Given the description of an element on the screen output the (x, y) to click on. 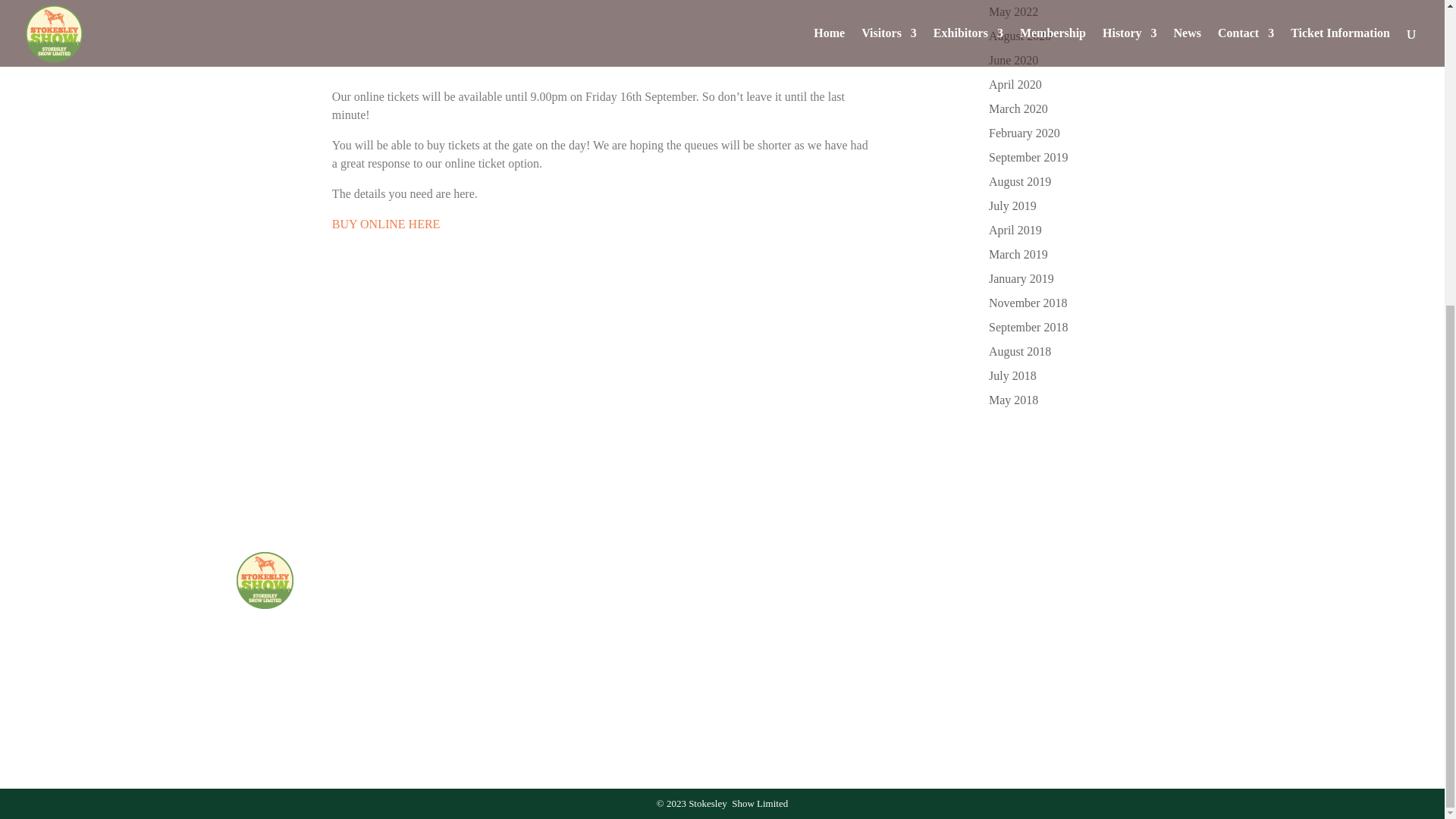
Follow on Facebook (761, 691)
Follow on Instagram (793, 691)
BUY ONLINE HERE (386, 223)
Follow on Twitter (828, 691)
August 2020 (1019, 35)
May 2022 (1013, 11)
stokesley-show (264, 580)
